Given the description of an element on the screen output the (x, y) to click on. 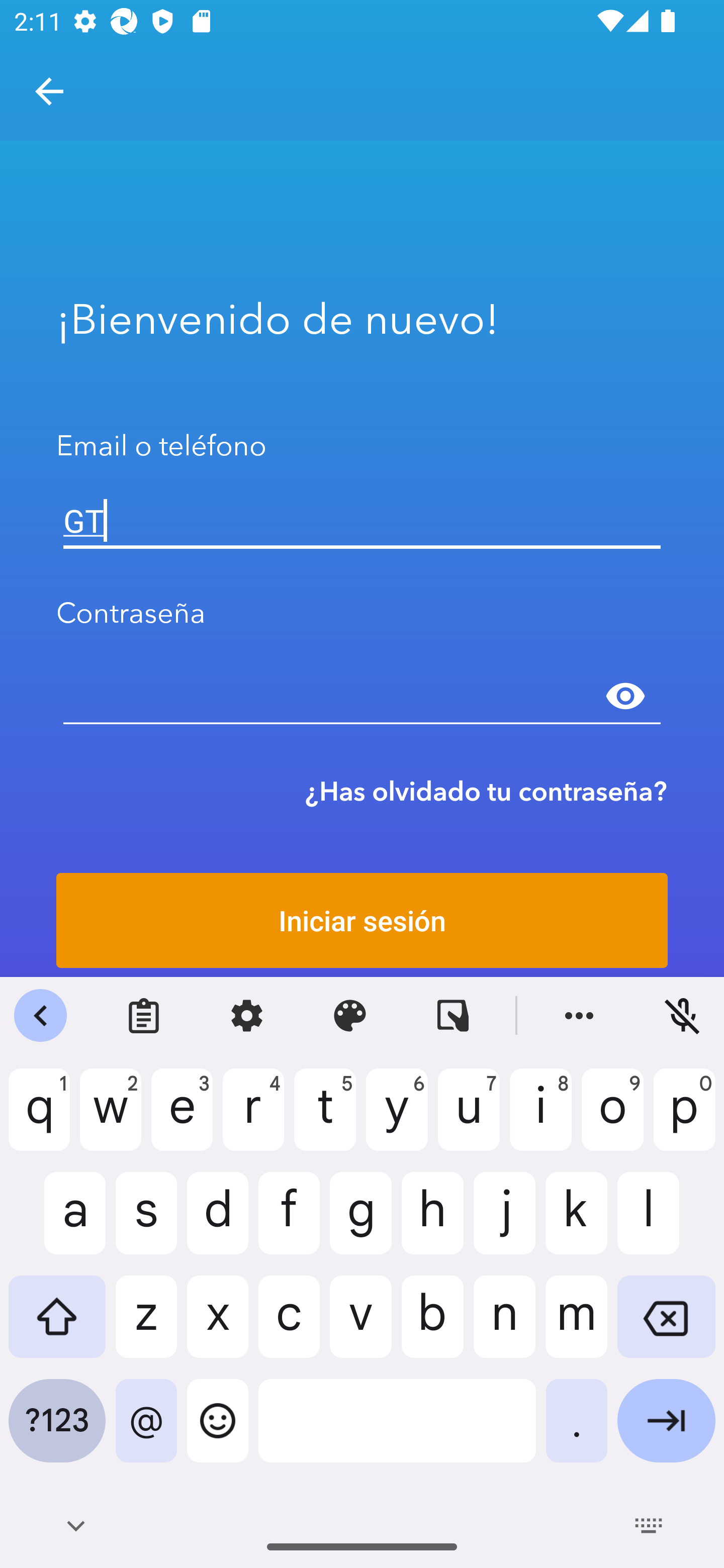
Navegar hacia arriba (49, 91)
GT (361, 521)
Mostrar contraseña (625, 695)
¿Has olvidado tu contraseña? (486, 790)
Iniciar sesión (361, 920)
